Given the description of an element on the screen output the (x, y) to click on. 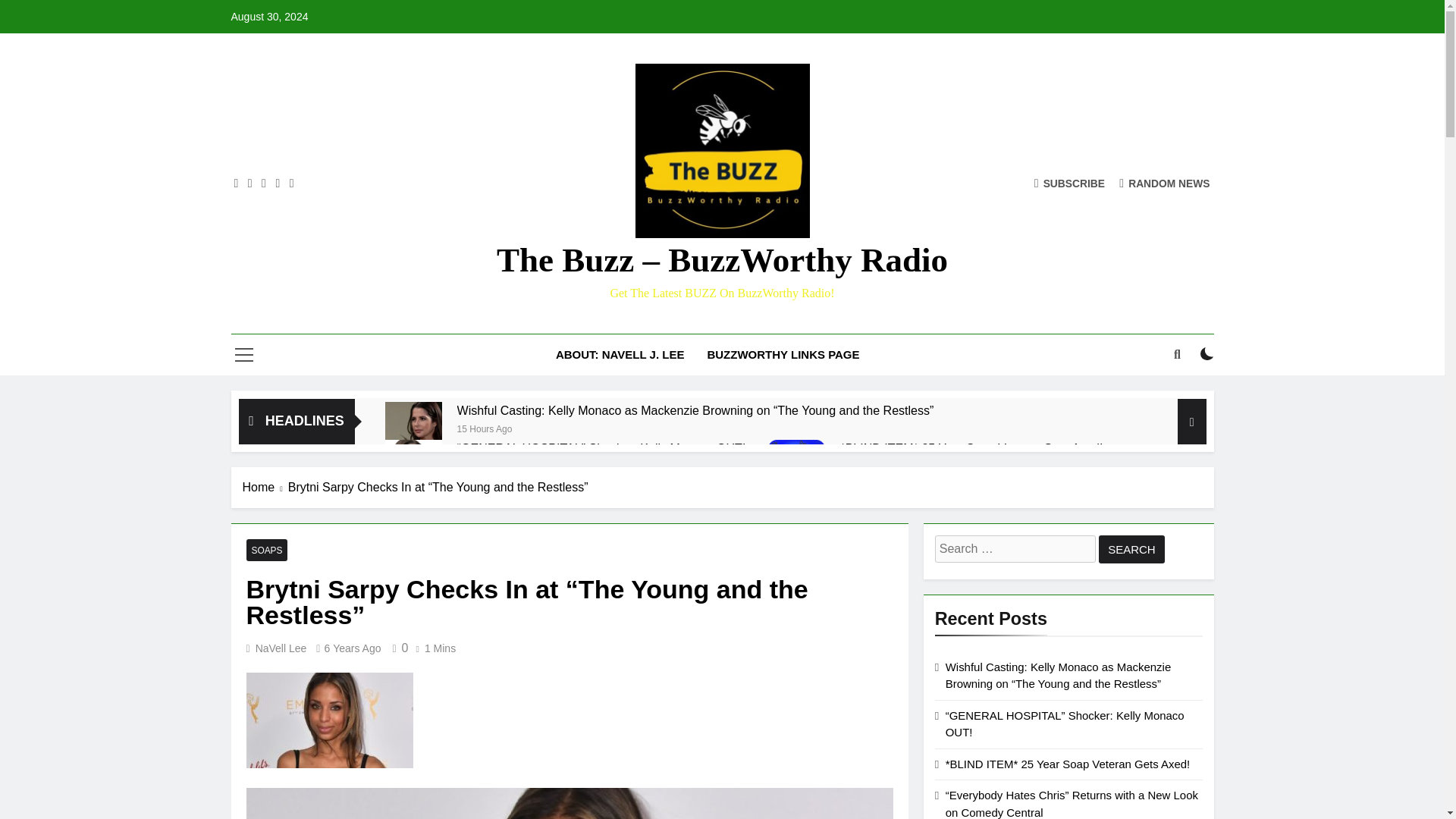
SUBSCRIBE (1069, 182)
Search (1131, 549)
RANDOM NEWS (1164, 182)
Search (1131, 549)
on (1206, 354)
